Given the description of an element on the screen output the (x, y) to click on. 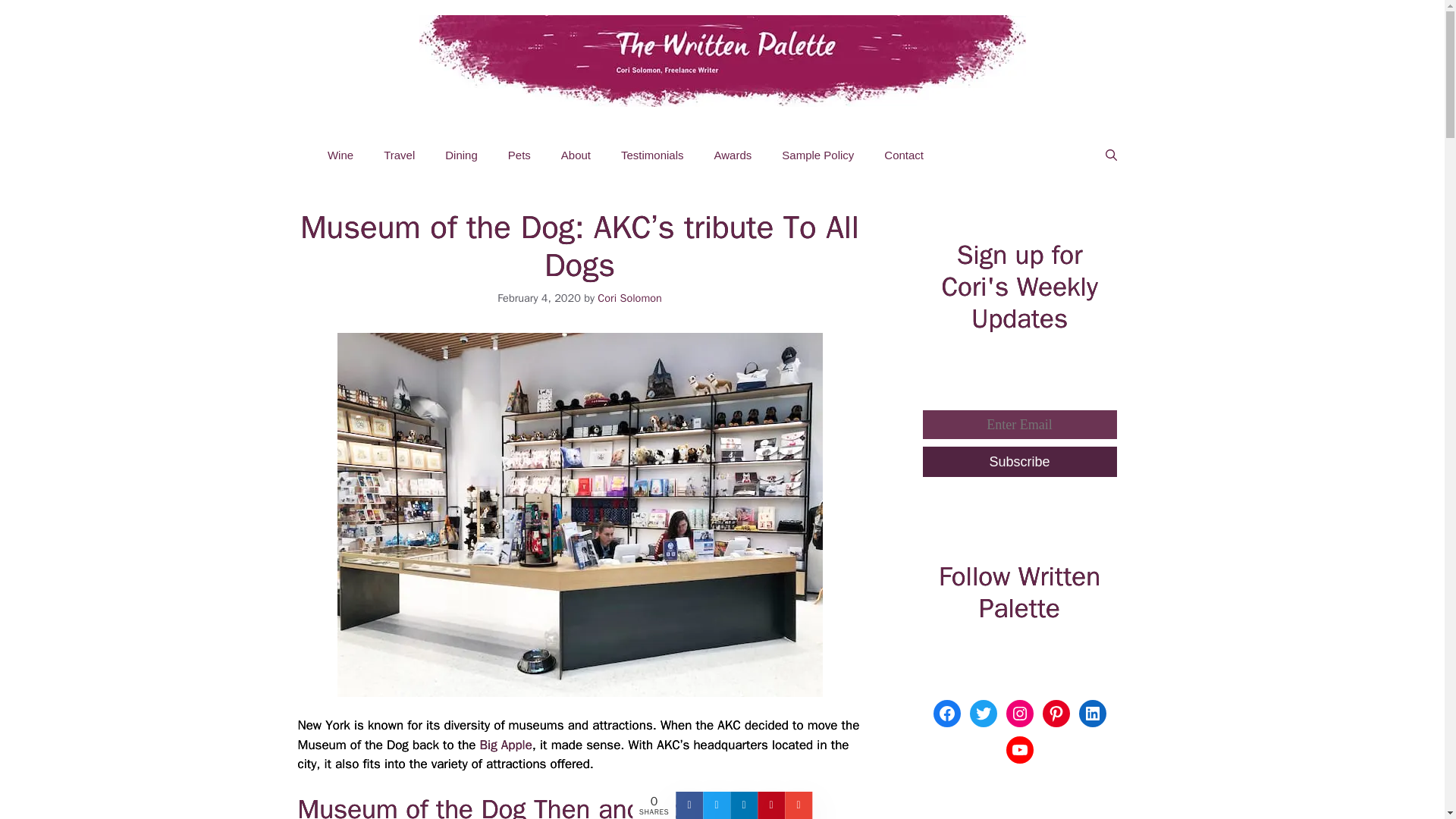
Instagram (1019, 713)
Pets (519, 155)
LinkedIn (1091, 713)
About (575, 155)
Wine (340, 155)
Twitter (982, 713)
Awards (732, 155)
Travel Articles (398, 155)
Subscribe (1018, 461)
Subscribe (1018, 461)
Epicurean (461, 155)
Cori Solomon (628, 297)
Pet Articles (519, 155)
About Cori (575, 155)
Pinterest (1055, 713)
